Given the description of an element on the screen output the (x, y) to click on. 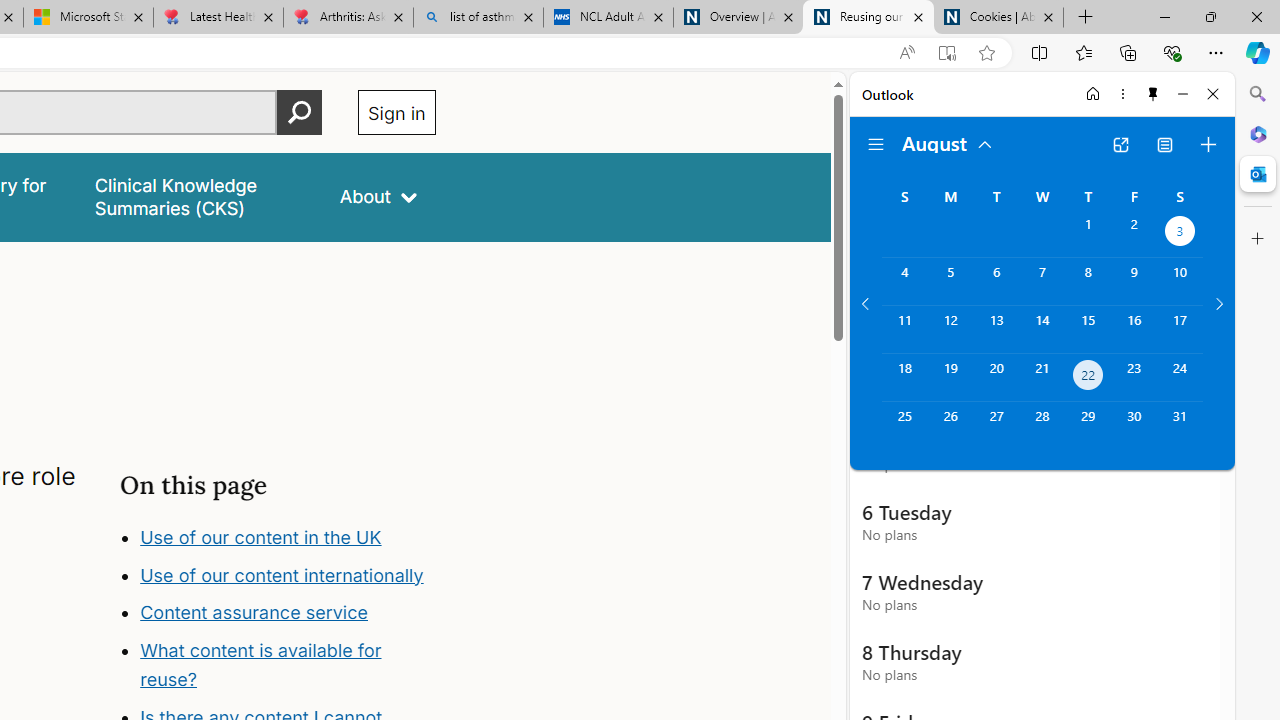
Friday, August 23, 2024.  (1134, 377)
Create event (1208, 144)
Tuesday, August 6, 2024.  (996, 281)
Sunday, August 18, 2024.  (904, 377)
Wednesday, August 14, 2024.  (1042, 329)
Wednesday, August 7, 2024.  (1042, 281)
Saturday, August 17, 2024.  (1180, 329)
Reusing our content | NICE (868, 17)
Perform search (299, 112)
